Given the description of an element on the screen output the (x, y) to click on. 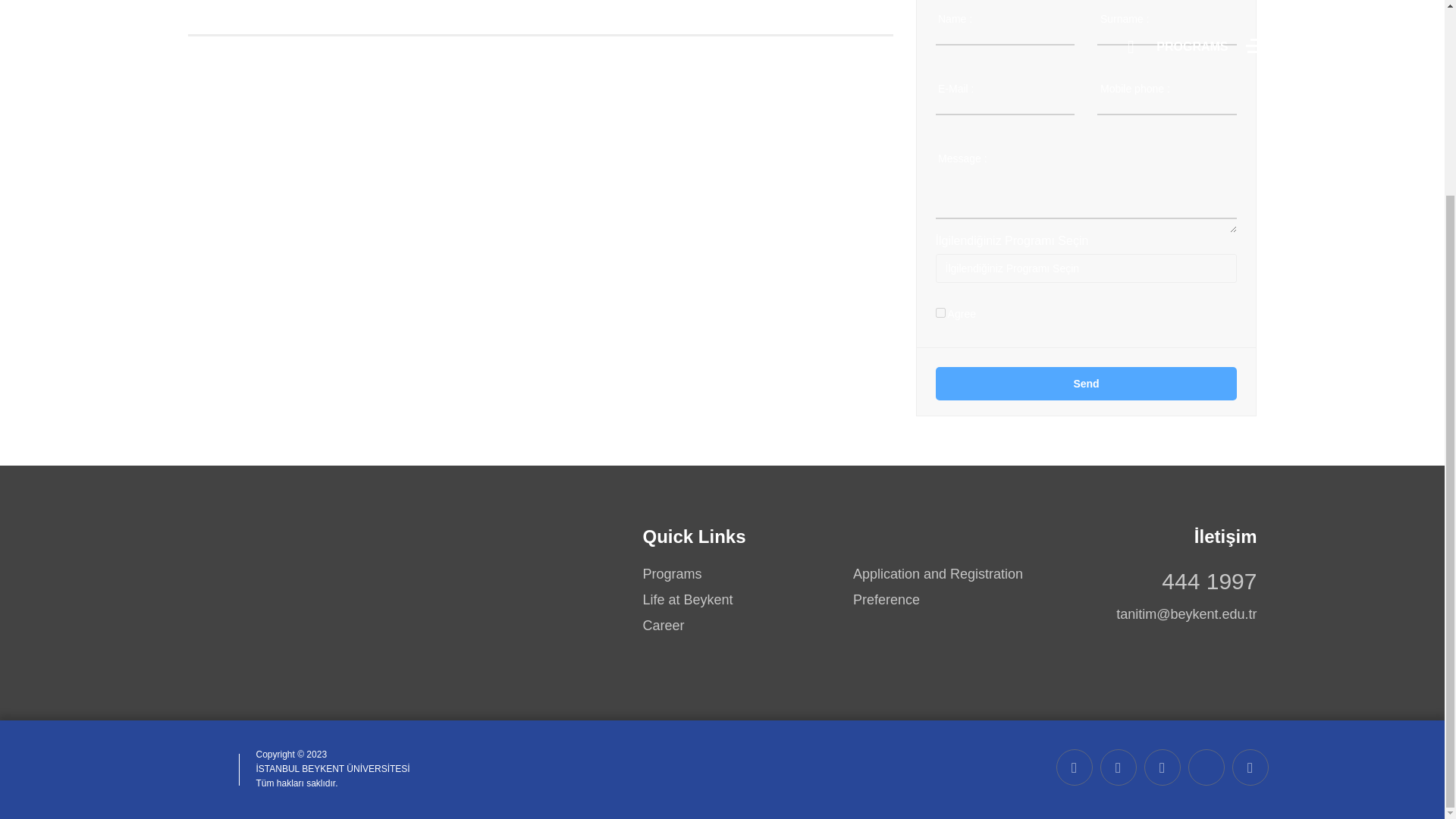
Facebook'ta takip et (1160, 767)
Youtube'de takip et (1117, 767)
Agree (940, 312)
Application and Registration (938, 574)
Programs (672, 574)
Send (1086, 383)
444 1997 (1208, 581)
Career (663, 626)
Linkedin'de takip et (1249, 767)
Twitter'da takip et (1206, 767)
